Given the description of an element on the screen output the (x, y) to click on. 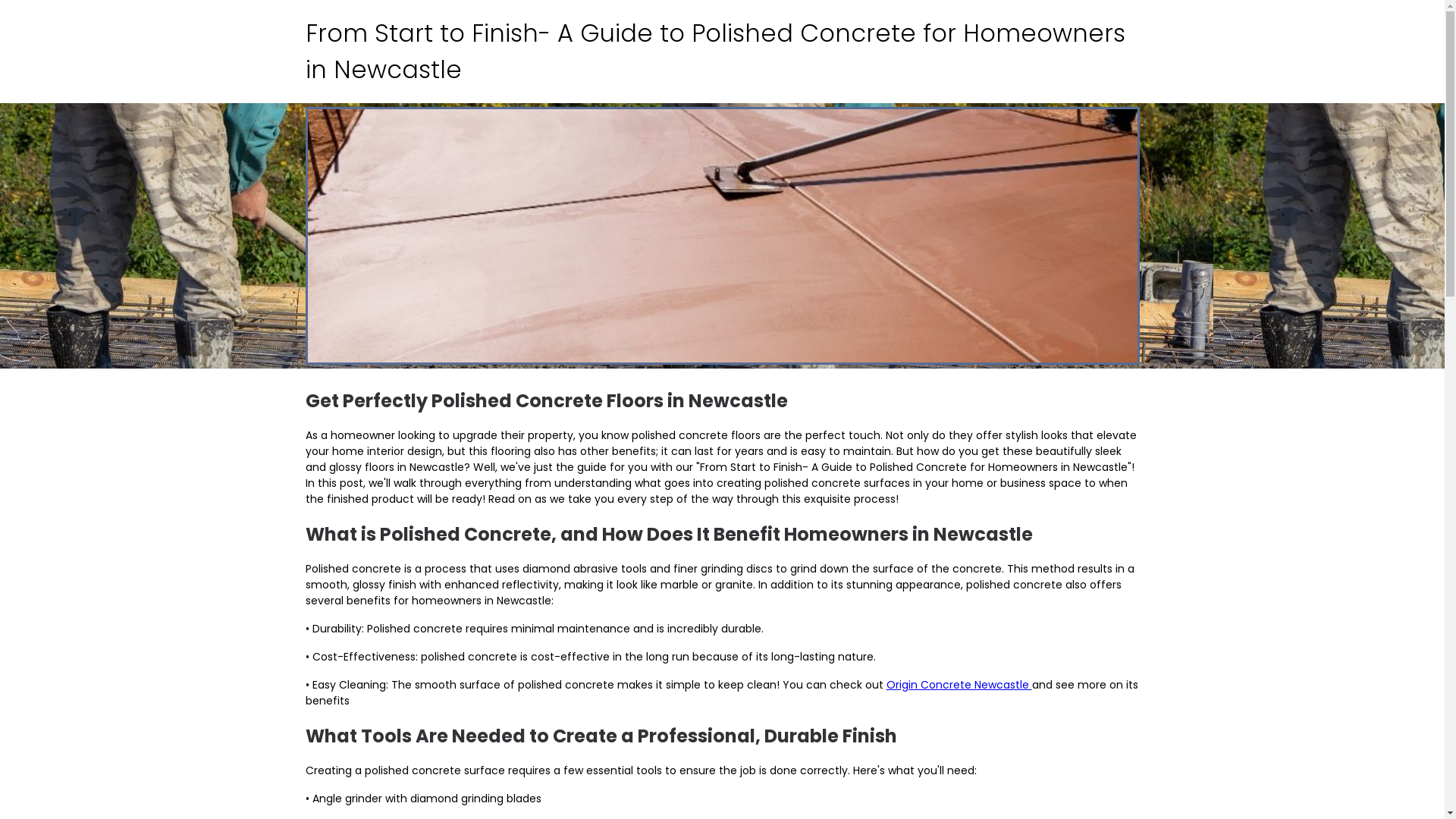
Origin Concrete Newcastle Element type: text (958, 684)
